Given the description of an element on the screen output the (x, y) to click on. 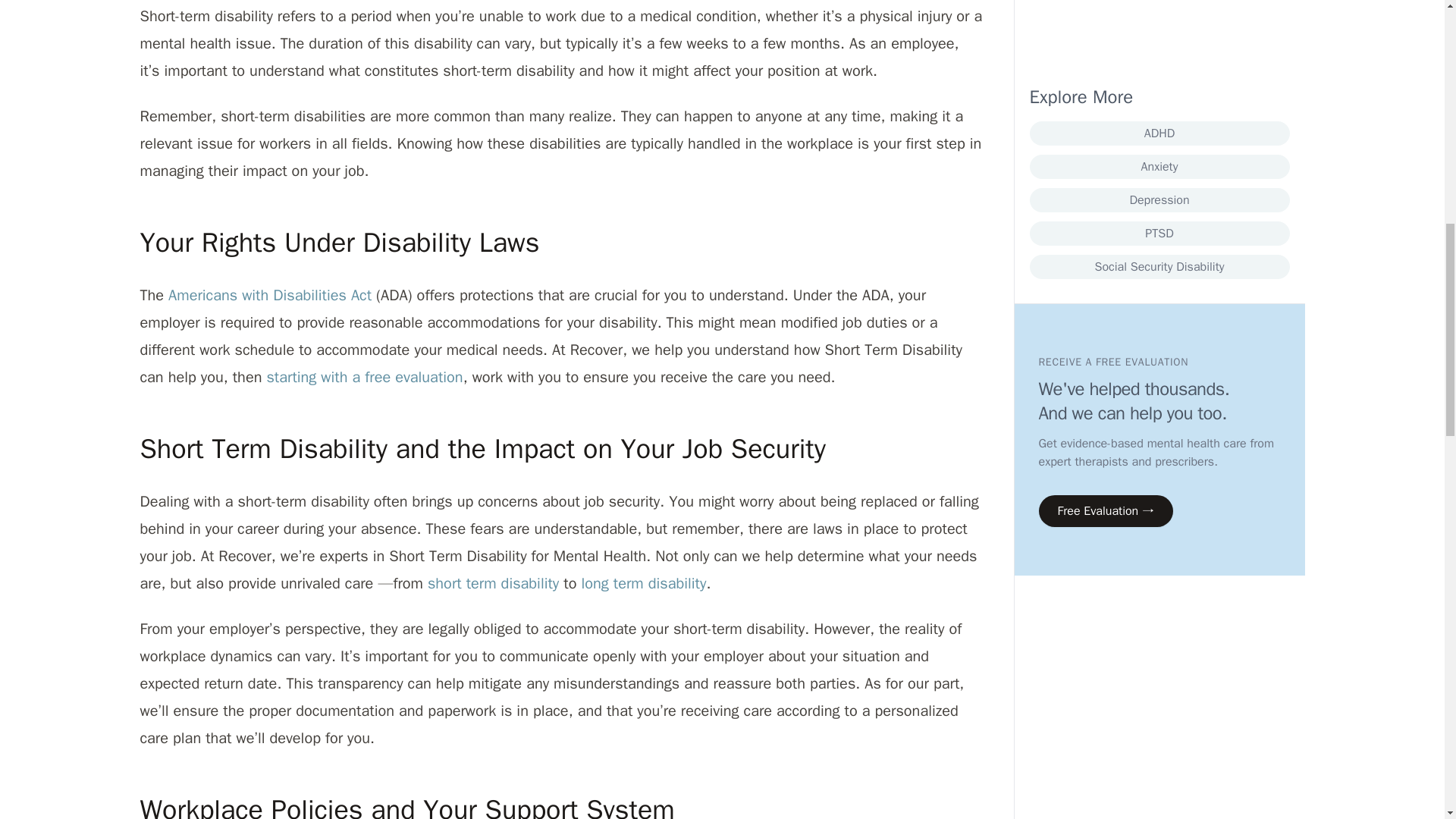
long term disability (643, 583)
starting with a free evaluation (364, 376)
short term disability (493, 583)
Americans with Disabilities Act (269, 294)
